Given the description of an element on the screen output the (x, y) to click on. 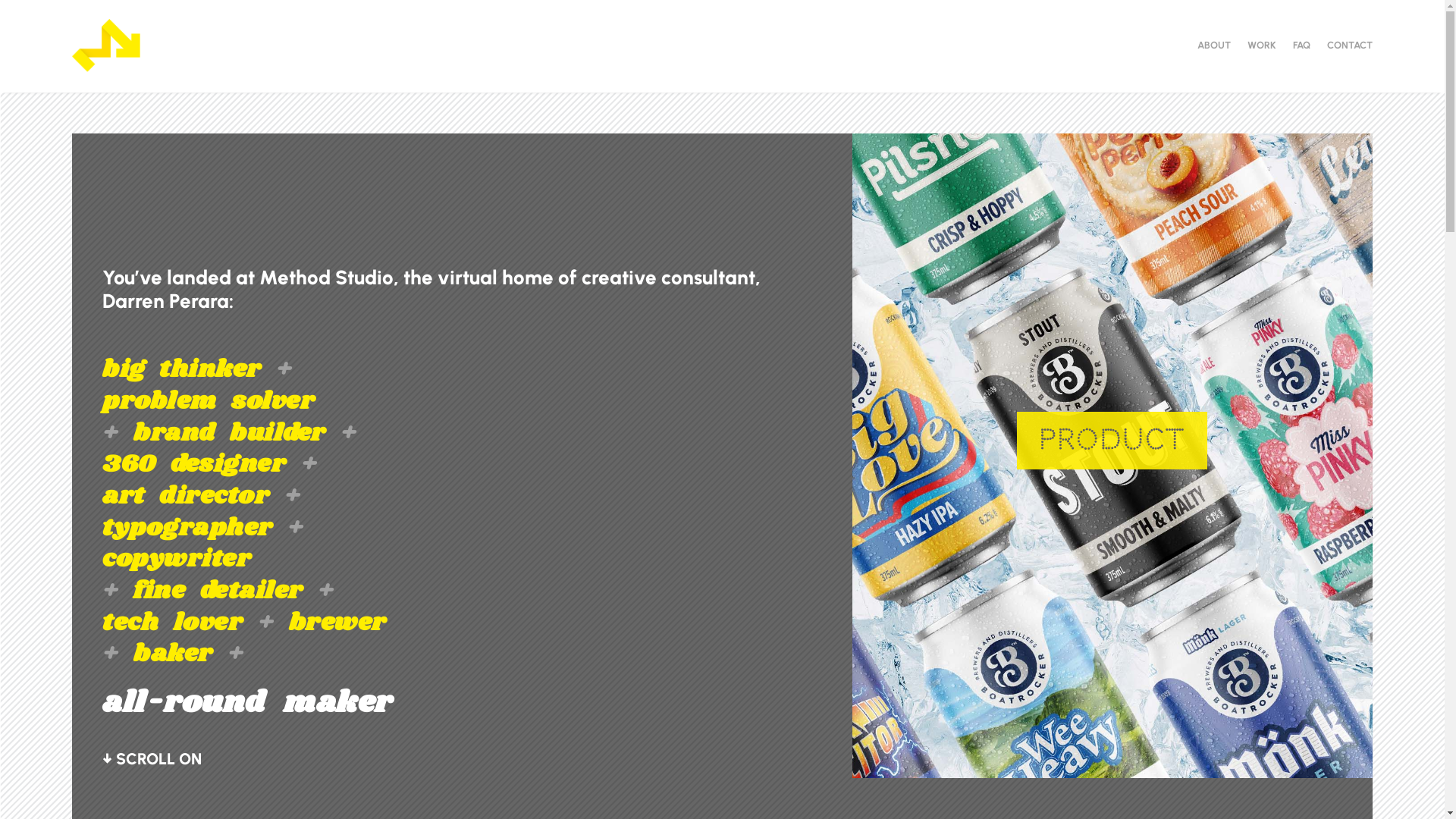
6 Element type: text (1144, 739)
1 Element type: text (1079, 739)
FAQ Element type: text (1301, 45)
2 Element type: text (1092, 739)
4 Element type: text (1118, 739)
3 Element type: text (1105, 739)
ABOUT Element type: text (1213, 45)
WORK Element type: text (1261, 45)
5 Element type: text (1131, 739)
PRODUCT Element type: text (1111, 440)
CONTACT Element type: text (1349, 45)
